Given the description of an element on the screen output the (x, y) to click on. 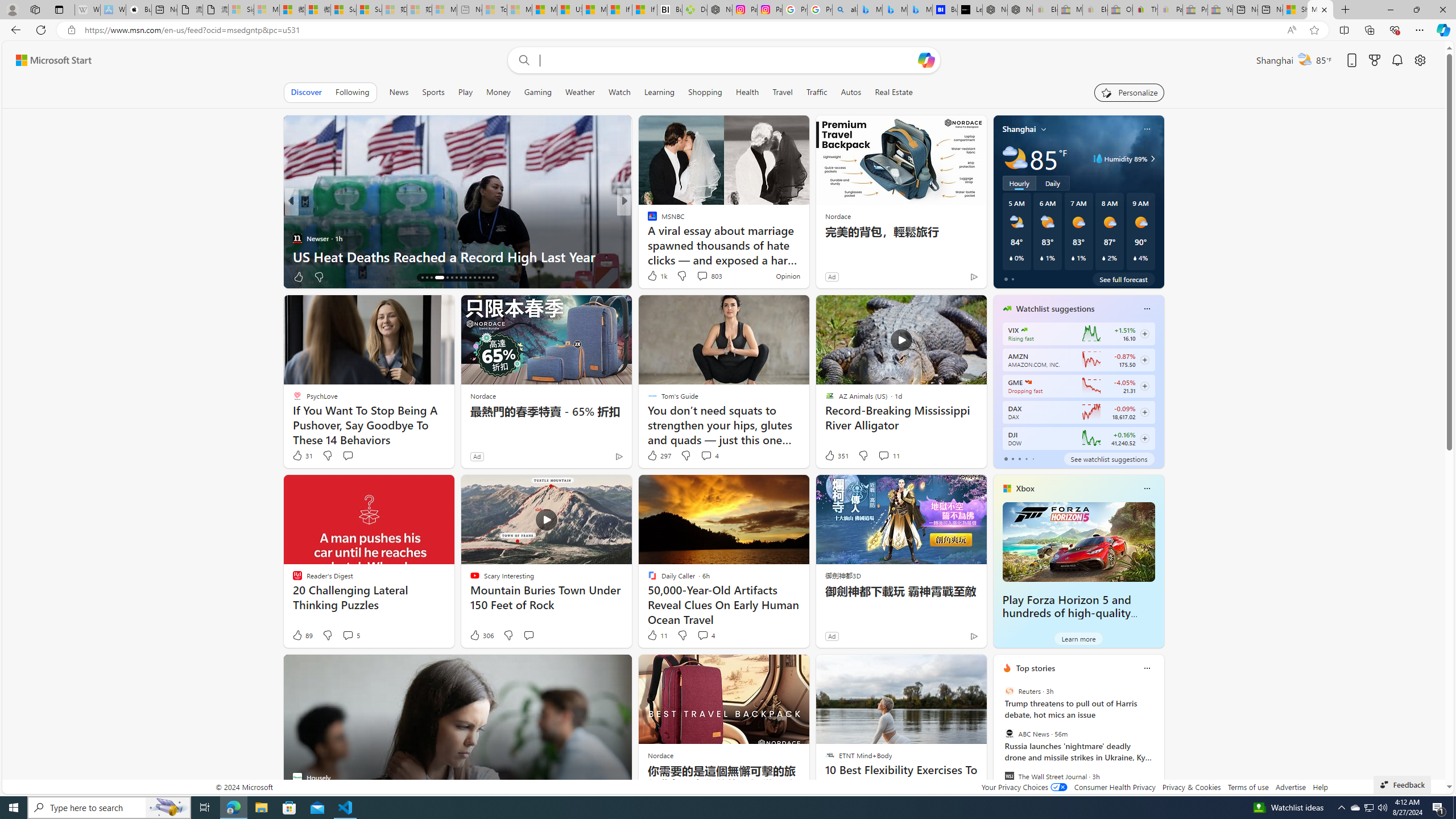
AutomationID: tab-28 (483, 277)
52 Like (652, 276)
8 Hours a Night Is a Myth. How Much Sleep You Really Need. (807, 247)
View comments 102 Comment (698, 276)
Marine life - MSN - Sleeping (519, 9)
55 Like (652, 276)
Class: weather-arrow-glyph (1152, 158)
